Given the description of an element on the screen output the (x, y) to click on. 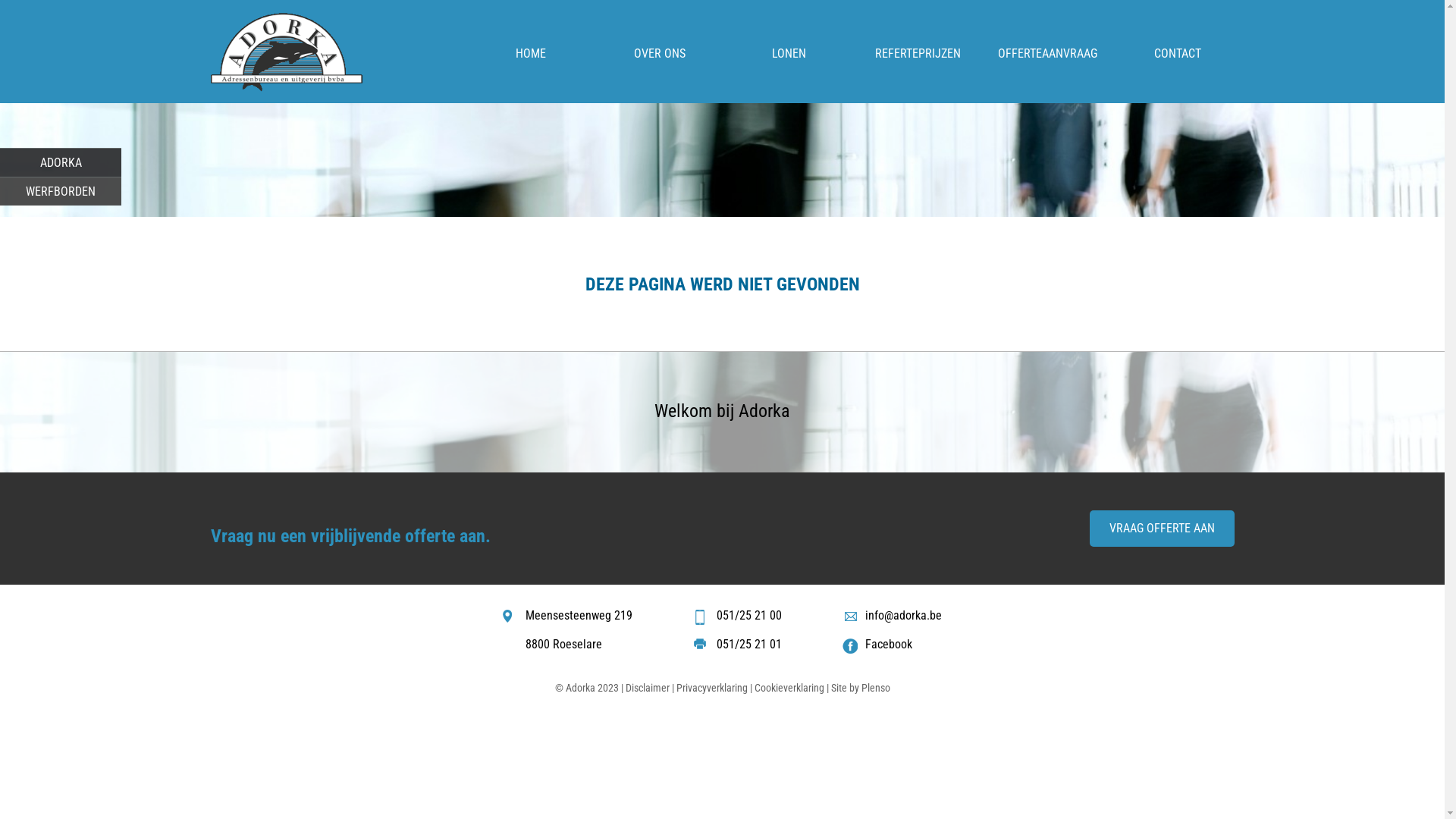
ADORKA Element type: text (60, 161)
Disclaimer Element type: text (646, 687)
WERFBORDEN Element type: text (60, 190)
CONTACT Element type: text (1177, 52)
Privacyverklaring Element type: text (711, 687)
HOME Element type: text (530, 52)
Cookieverklaring Element type: text (788, 687)
LONEN Element type: text (788, 52)
Site by Plenso Element type: text (860, 687)
VRAAG OFFERTE AAN Element type: text (1161, 528)
OVER ONS Element type: text (659, 52)
REFERTEPRIJZEN Element type: text (917, 52)
OFFERTEAANVRAAG Element type: text (1046, 52)
Facebook Element type: text (888, 644)
info@adorka.be Element type: text (903, 615)
